Given the description of an element on the screen output the (x, y) to click on. 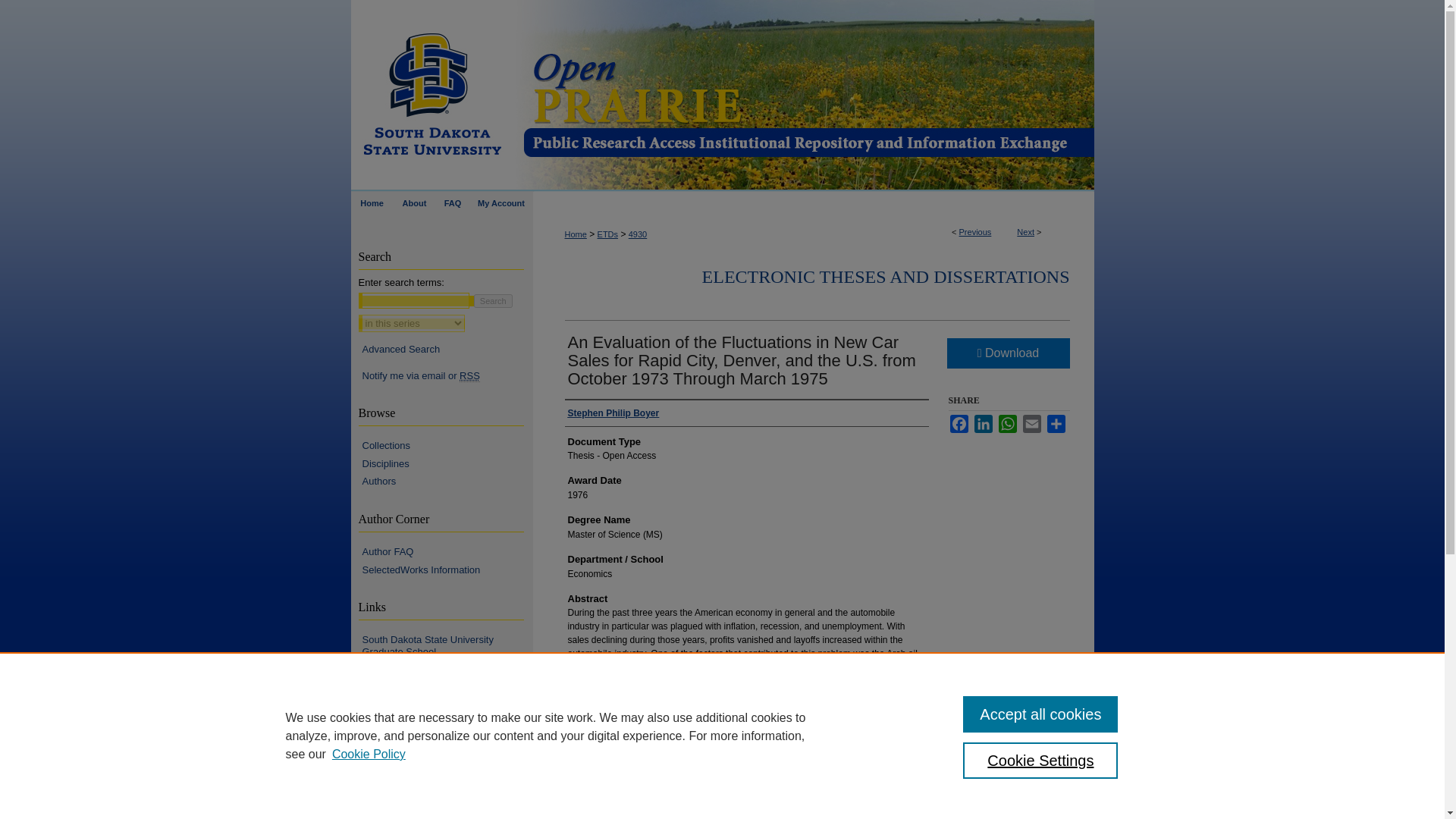
ELECTRONIC THESES AND DISSERTATIONS (885, 276)
My Account (501, 202)
Really Simple Syndication (470, 376)
Browse by Disciplines (447, 463)
My Account (501, 202)
Search (493, 300)
Advanced Search (401, 348)
Authors (447, 481)
Home (371, 202)
Facebook (958, 423)
About (414, 202)
Stephen Philip Boyer (613, 413)
SelectedWorks Information (447, 570)
